Given the description of an element on the screen output the (x, y) to click on. 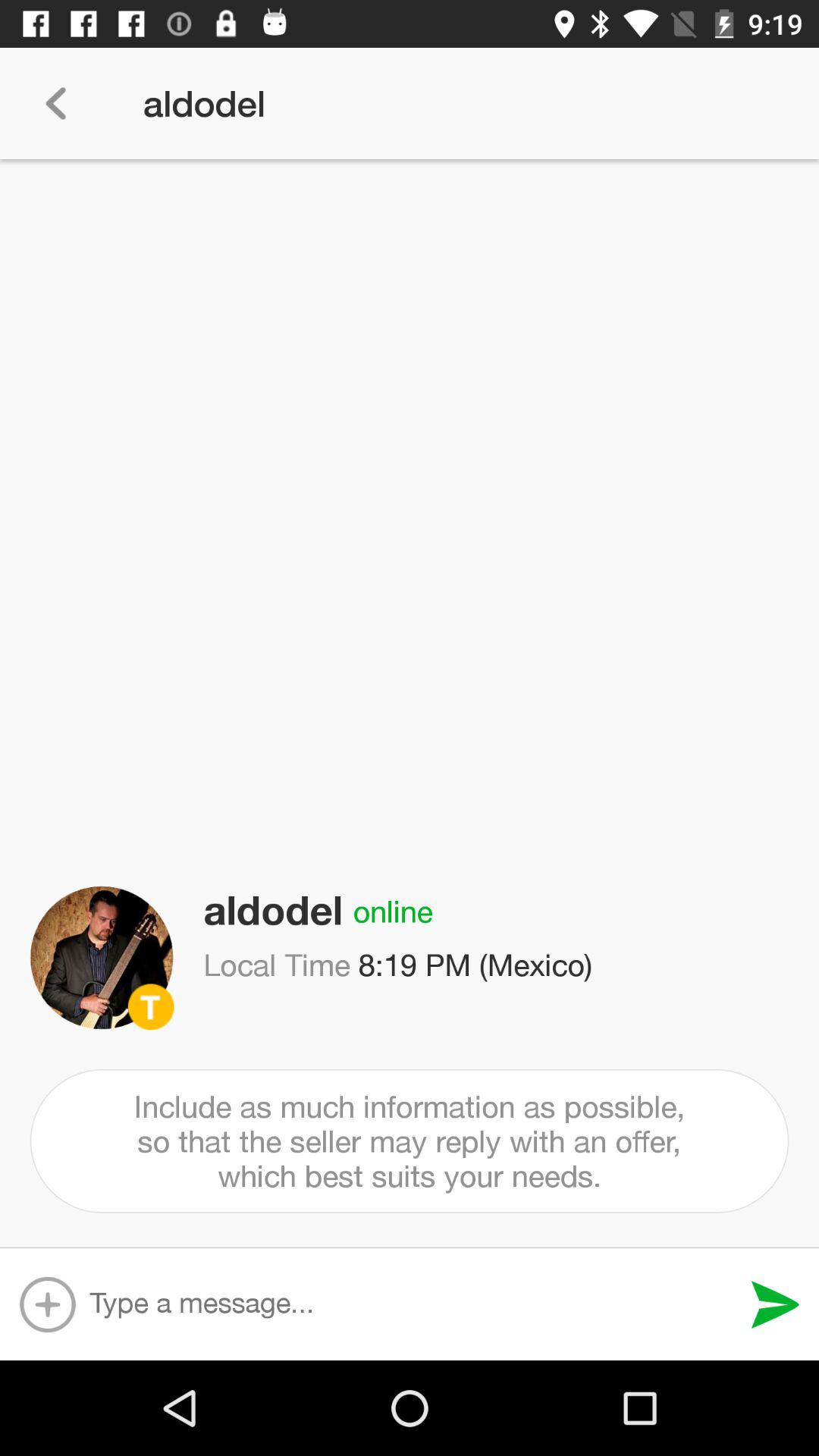
click icon to the left of aldodel item (55, 103)
